Given the description of an element on the screen output the (x, y) to click on. 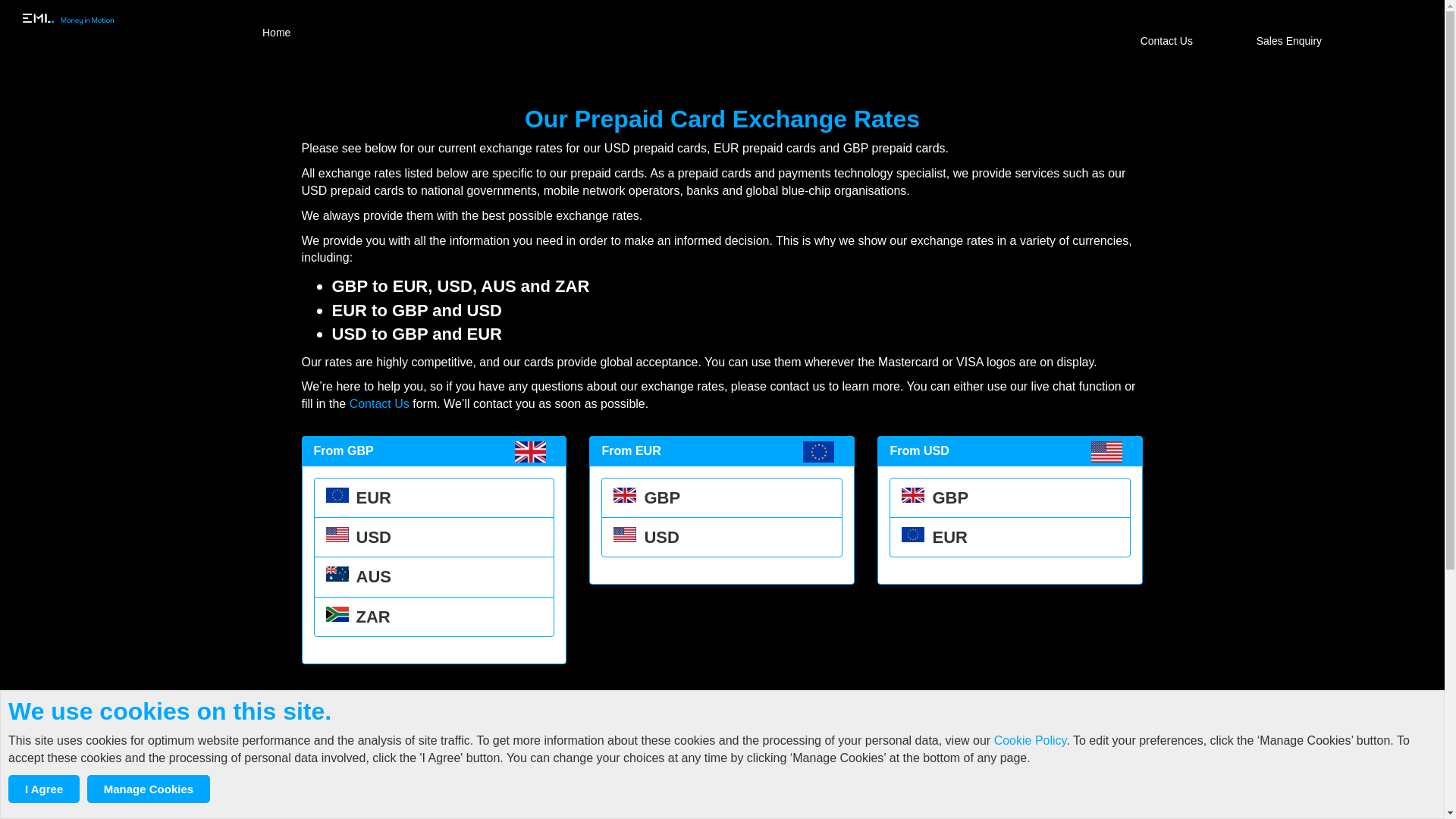
Home (276, 33)
Manage Cookies (148, 788)
here (850, 706)
here (834, 730)
PFS (98, 22)
Sales Enquiry  (1290, 40)
Cookie Policy (1030, 739)
Contact Us (379, 403)
Contact Us  (1169, 40)
I Agree (44, 788)
